Given the description of an element on the screen output the (x, y) to click on. 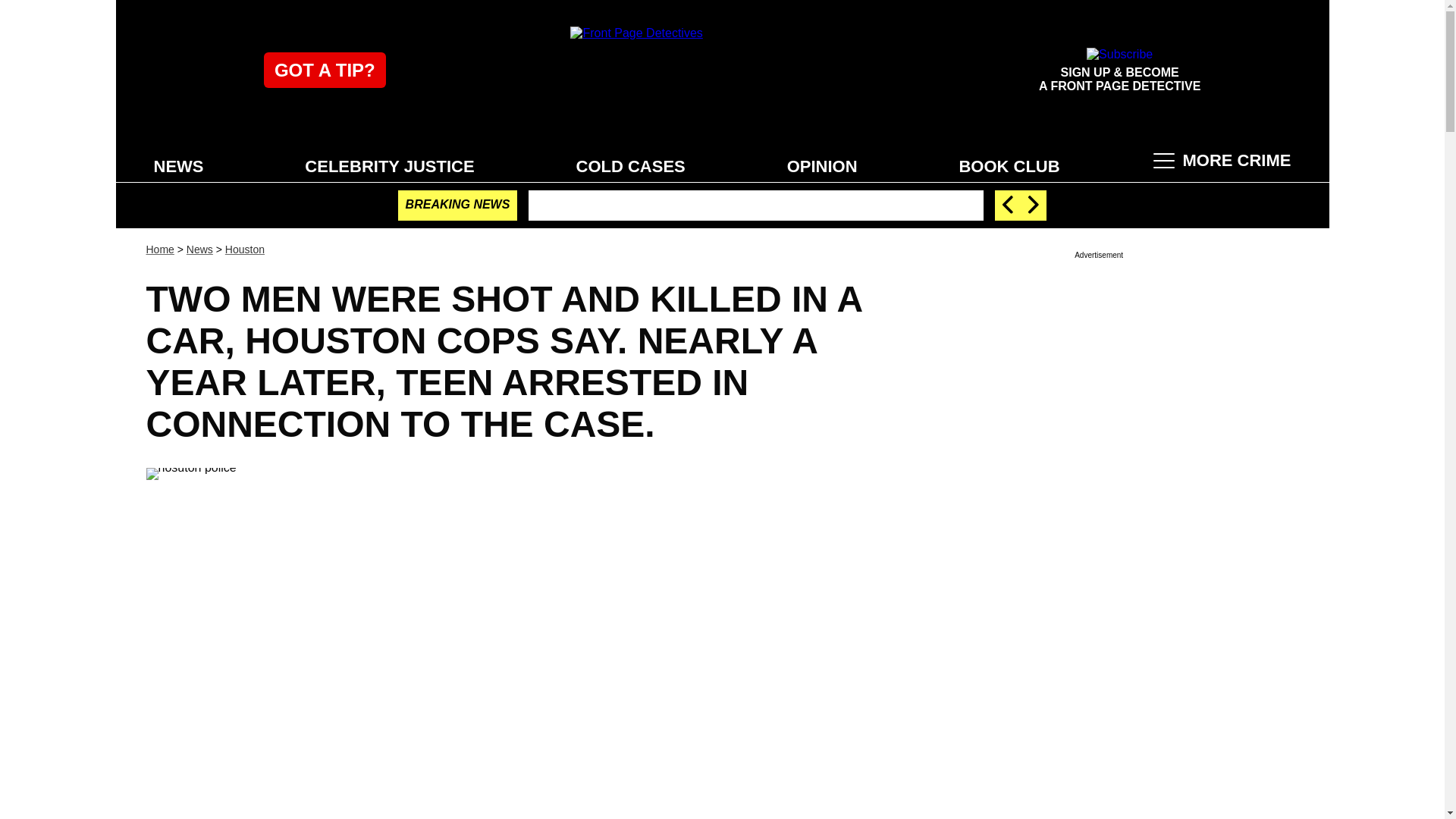
NEWS (178, 164)
Home (159, 249)
Front Page Detective (721, 70)
COLD CASES (631, 164)
Sign up for your daily dose of dope. (1119, 70)
News (199, 249)
OPINION (821, 164)
GOT A TIP? (324, 69)
BOOK CLUB (1008, 164)
